Given the description of an element on the screen output the (x, y) to click on. 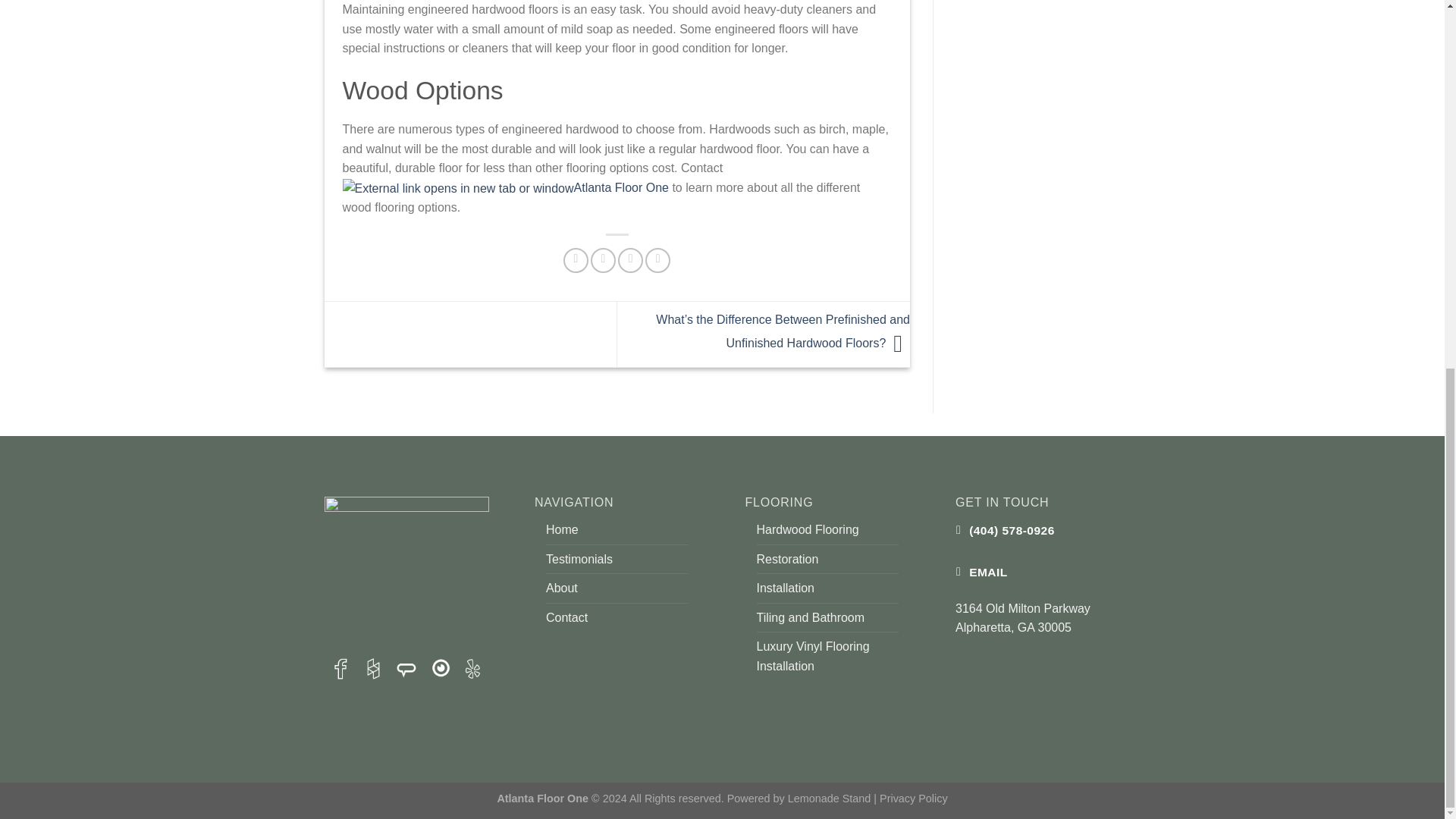
Share on LinkedIn (657, 260)
Home (562, 529)
Share on Twitter (603, 260)
About (562, 588)
Testimonials (579, 559)
Share on Facebook (575, 260)
Email to a Friend (630, 260)
Atlanta Floor One (505, 187)
